Given the description of an element on the screen output the (x, y) to click on. 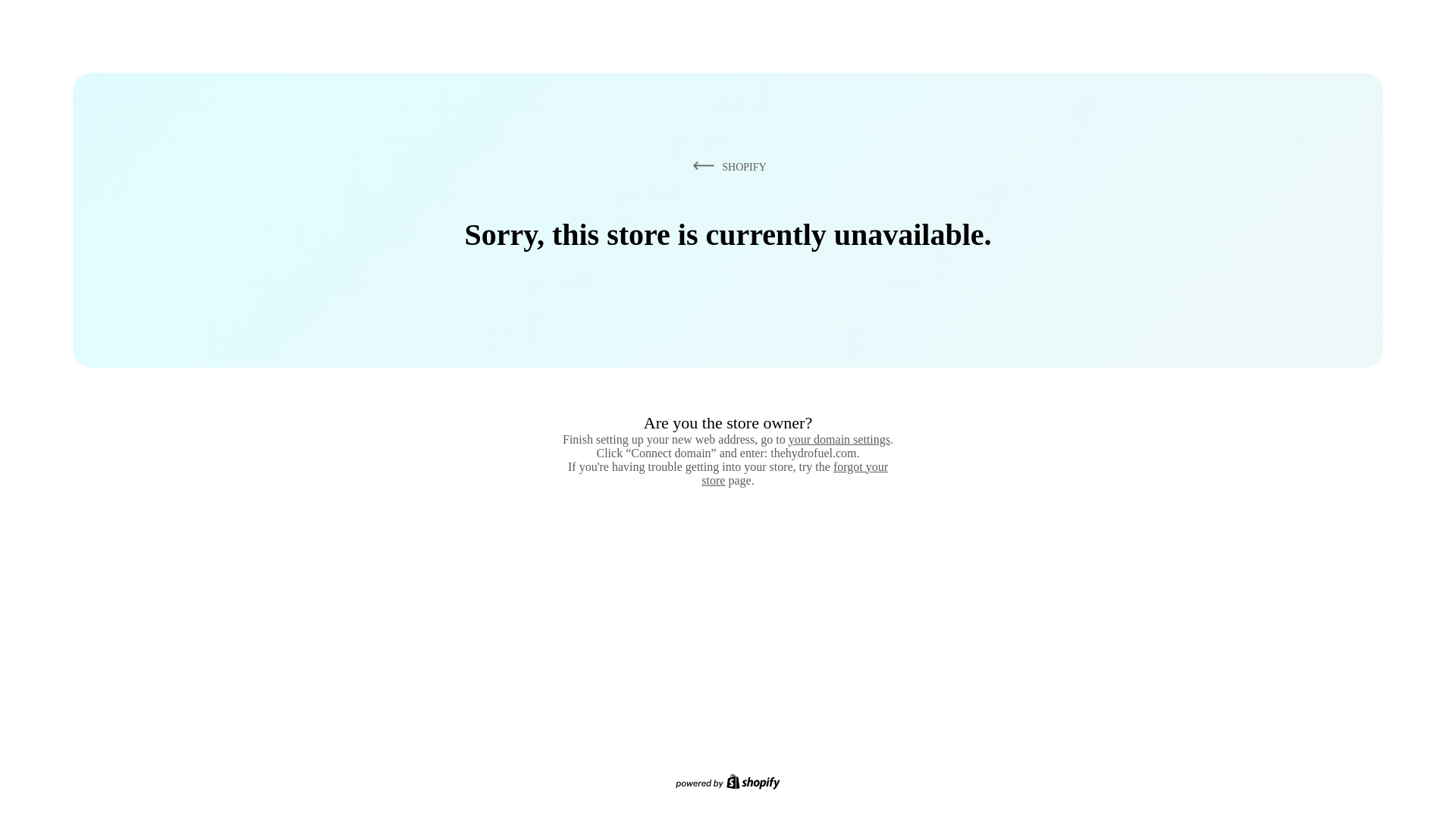
forgot your store (794, 473)
your domain settings (839, 439)
SHOPIFY (726, 166)
